Given the description of an element on the screen output the (x, y) to click on. 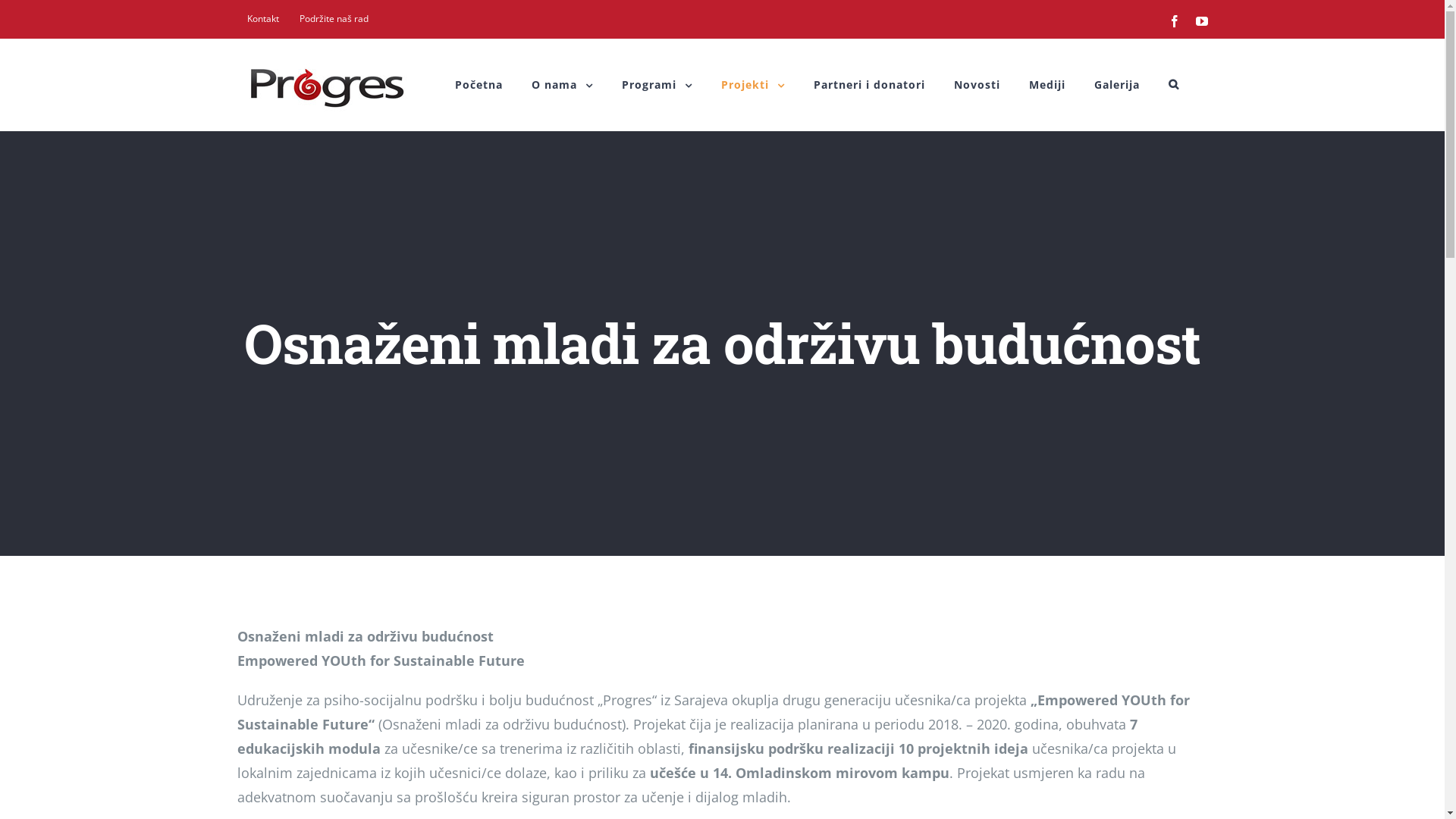
YouTube Element type: text (1201, 21)
O nama Element type: text (561, 84)
Programi Element type: text (656, 84)
Kontakt Element type: text (262, 18)
Projekti Element type: text (752, 84)
Galerija Element type: text (1116, 84)
Mediji Element type: text (1046, 84)
Facebook Element type: text (1173, 21)
Search Element type: hover (1172, 84)
Novosti Element type: text (976, 84)
Partneri i donatori Element type: text (868, 84)
